Given the description of an element on the screen output the (x, y) to click on. 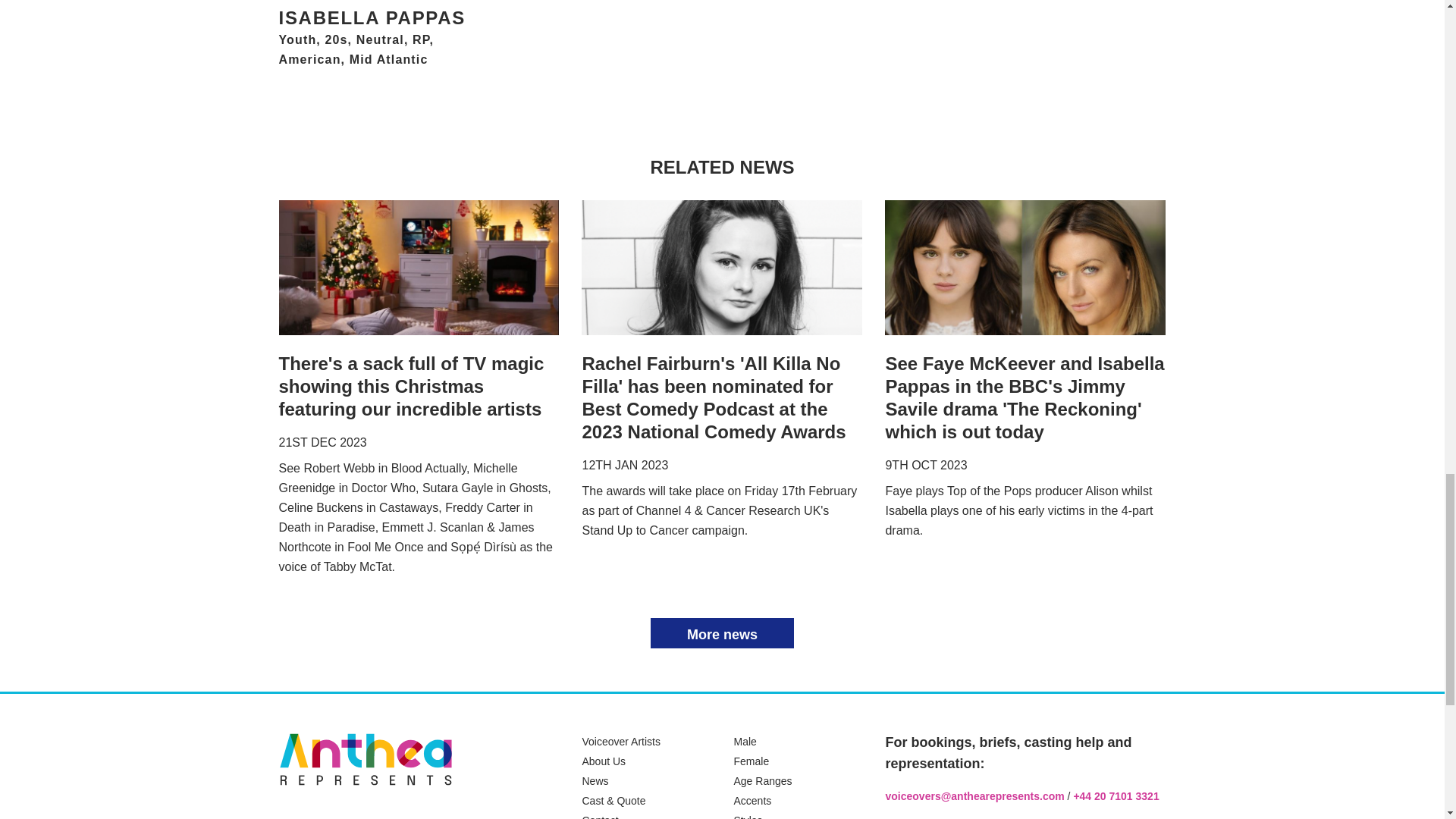
Female (750, 761)
Age Ranges (762, 780)
Accents (752, 800)
Male (744, 741)
Contact (598, 816)
More news (721, 633)
News (594, 780)
ISABELLA PAPPAS (381, 17)
About Us (603, 761)
Voiceover Artists (620, 741)
